Given the description of an element on the screen output the (x, y) to click on. 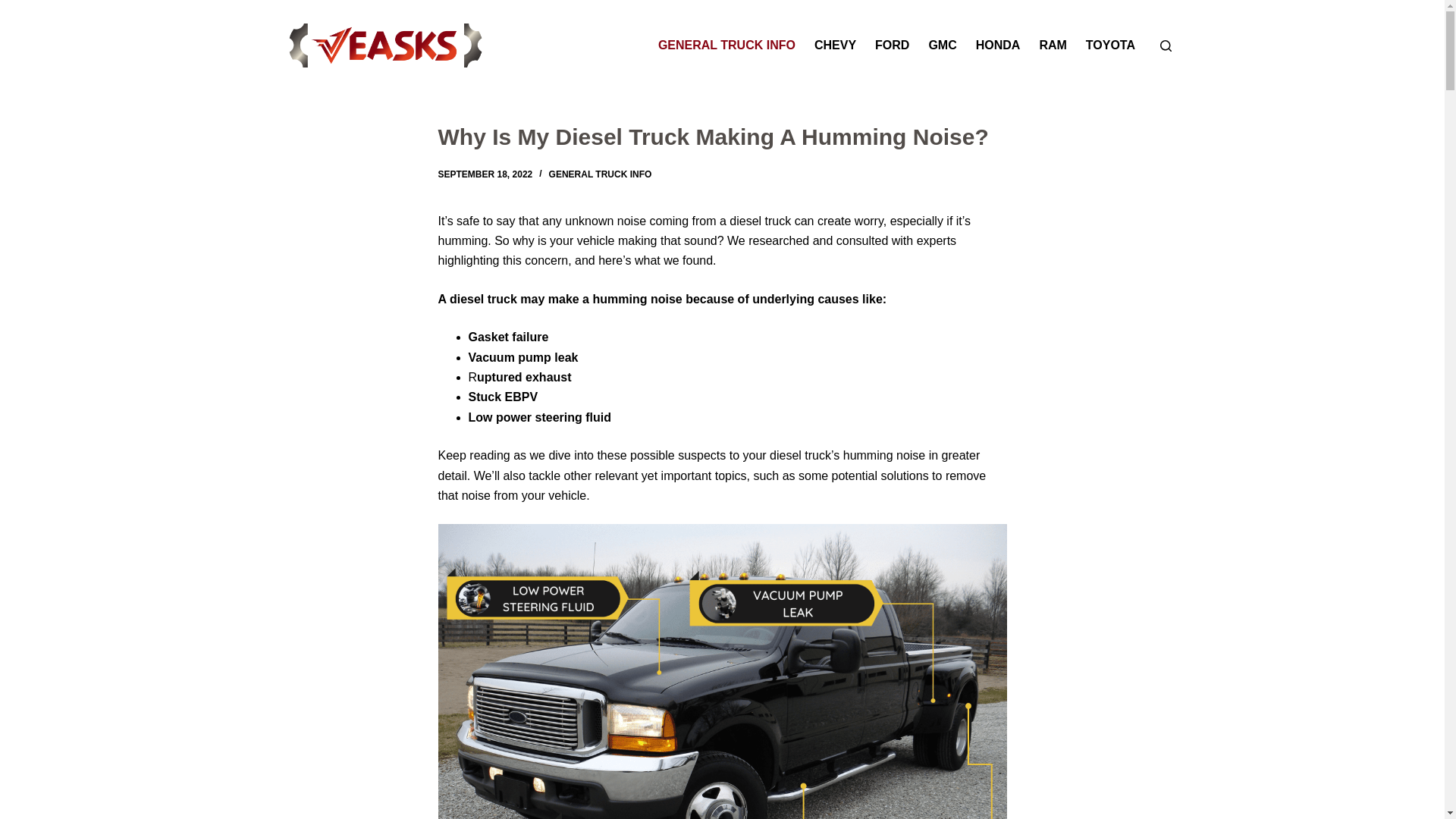
GENERAL TRUCK INFO (600, 173)
GENERAL TRUCK INFO (726, 45)
Why Is My Diesel Truck Making A Humming Noise? (722, 136)
Skip to content (15, 7)
